Given the description of an element on the screen output the (x, y) to click on. 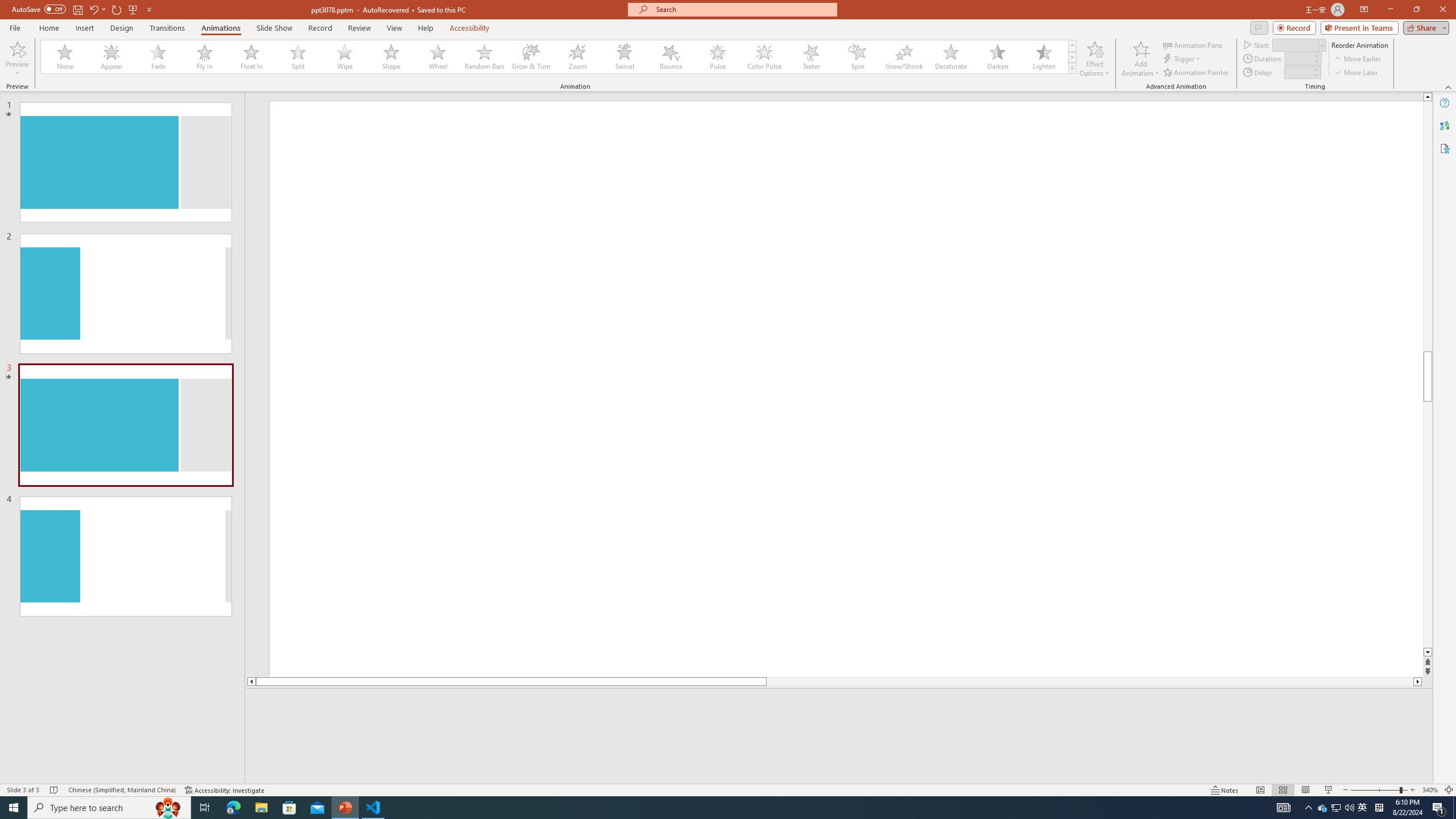
Grow/Shrink (903, 56)
Start (1299, 44)
Move Earlier (1357, 58)
Fade (158, 56)
Wipe (344, 56)
Desaturate (950, 56)
Float In (251, 56)
Animation Duration (1298, 58)
Animation Painter (1196, 72)
Row up (1071, 45)
